Given the description of an element on the screen output the (x, y) to click on. 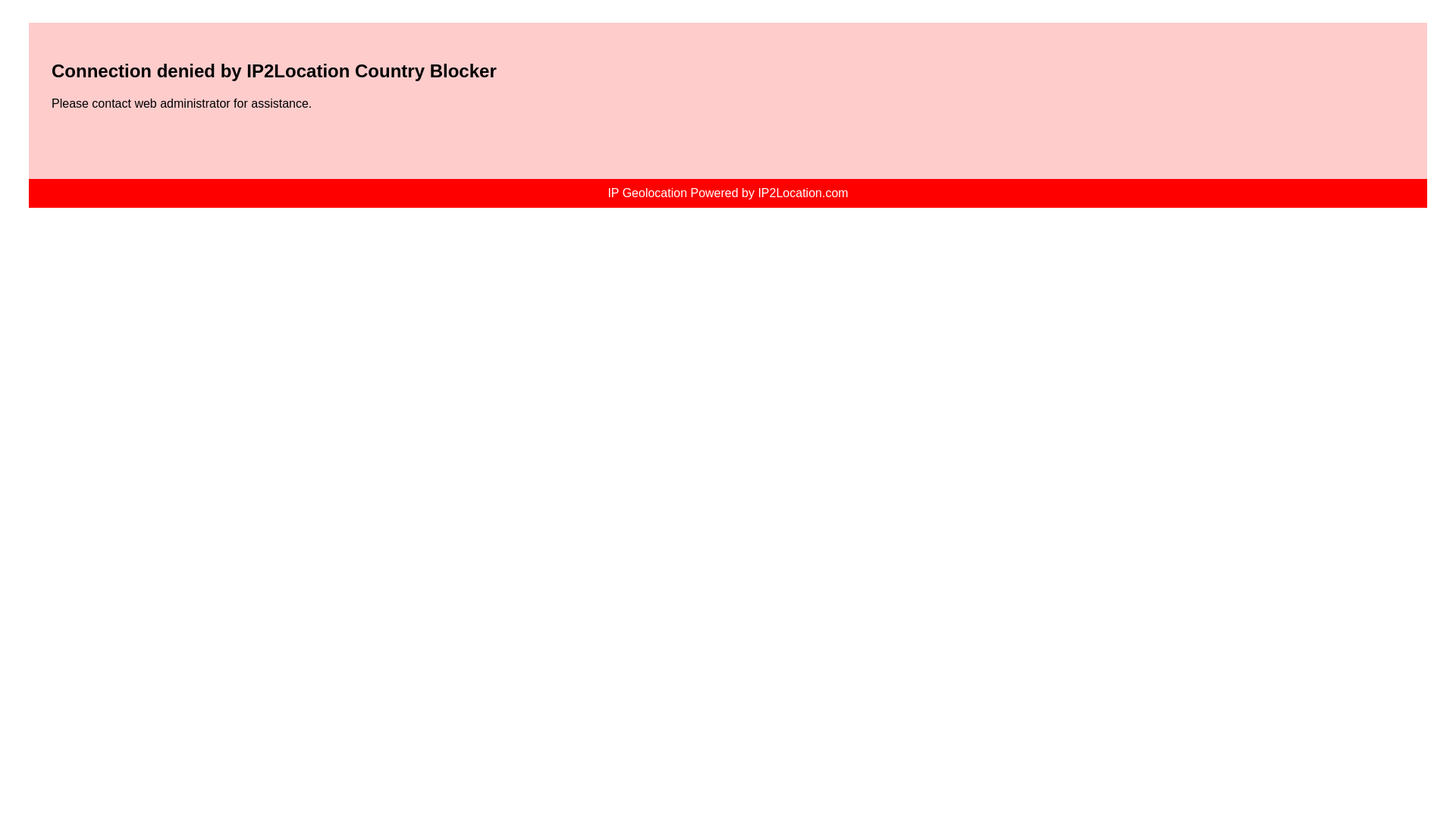
IP Geolocation Powered by IP2Location.com (727, 192)
